Given the description of an element on the screen output the (x, y) to click on. 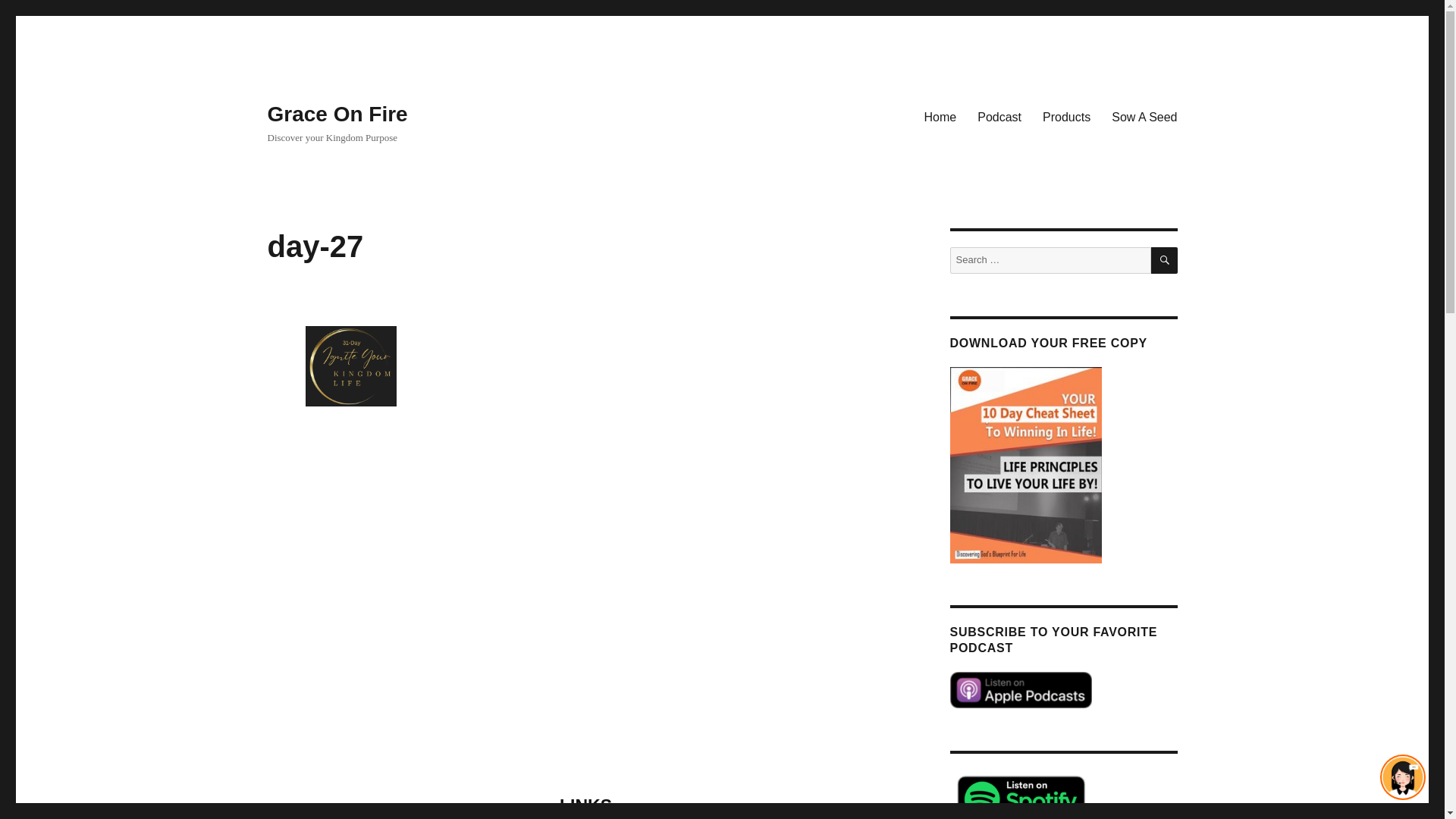
Grace On Fire (336, 114)
GoldLogo (339, 365)
Products (1066, 116)
Podcast (999, 116)
Home (941, 116)
Sow A Seed (1144, 116)
